Given the description of an element on the screen output the (x, y) to click on. 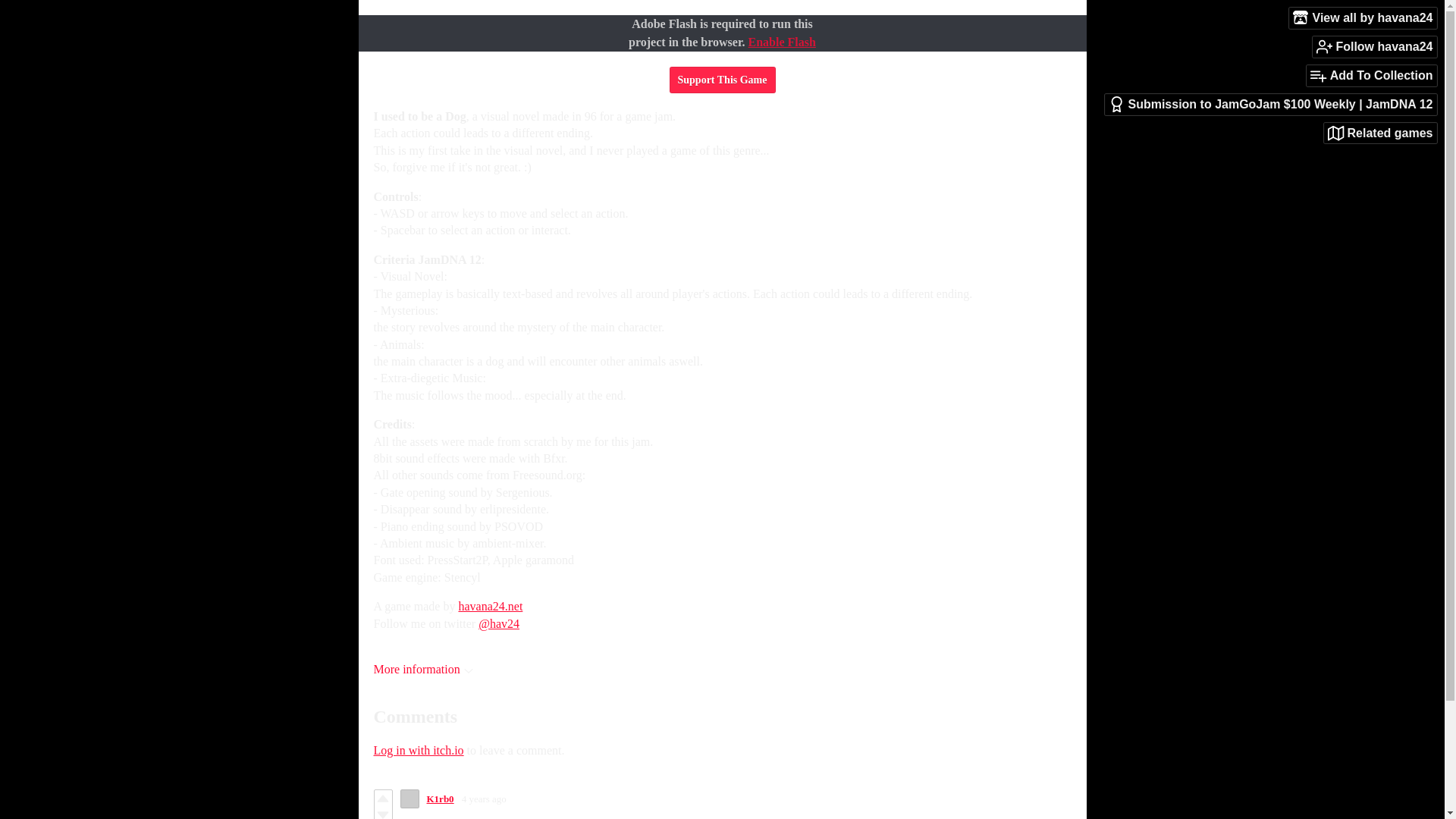
Related games (1380, 133)
2020-05-28 01:39:56 (483, 799)
Add To Collection (1371, 75)
Vote up (382, 798)
More information (421, 668)
Log in with itch.io (417, 749)
Support This Game (721, 79)
K1rb0 (439, 798)
View all by havana24 (1362, 17)
Enable Flash (781, 42)
